Given the description of an element on the screen output the (x, y) to click on. 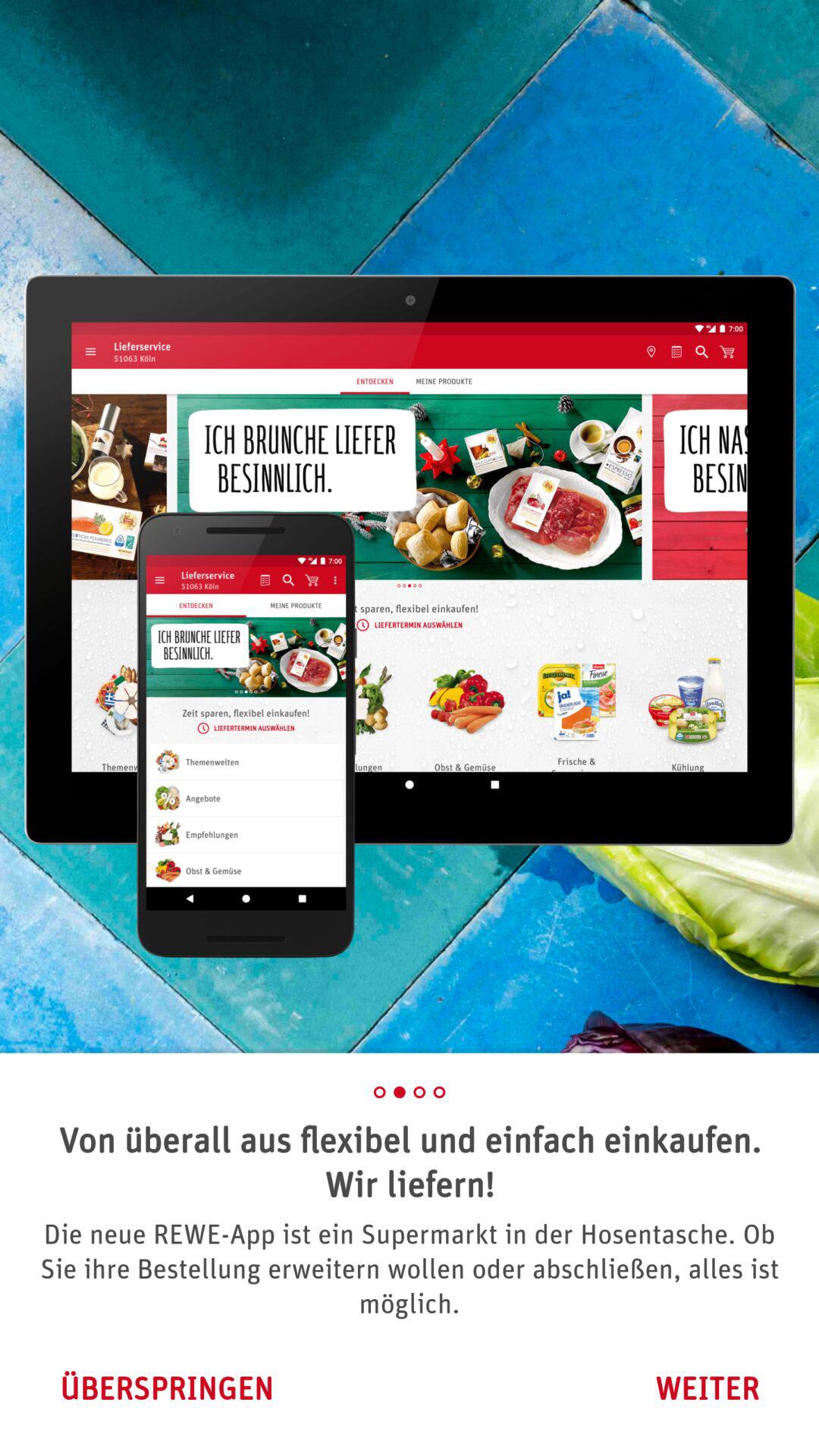
choose the weiter item (707, 1388)
